Given the description of an element on the screen output the (x, y) to click on. 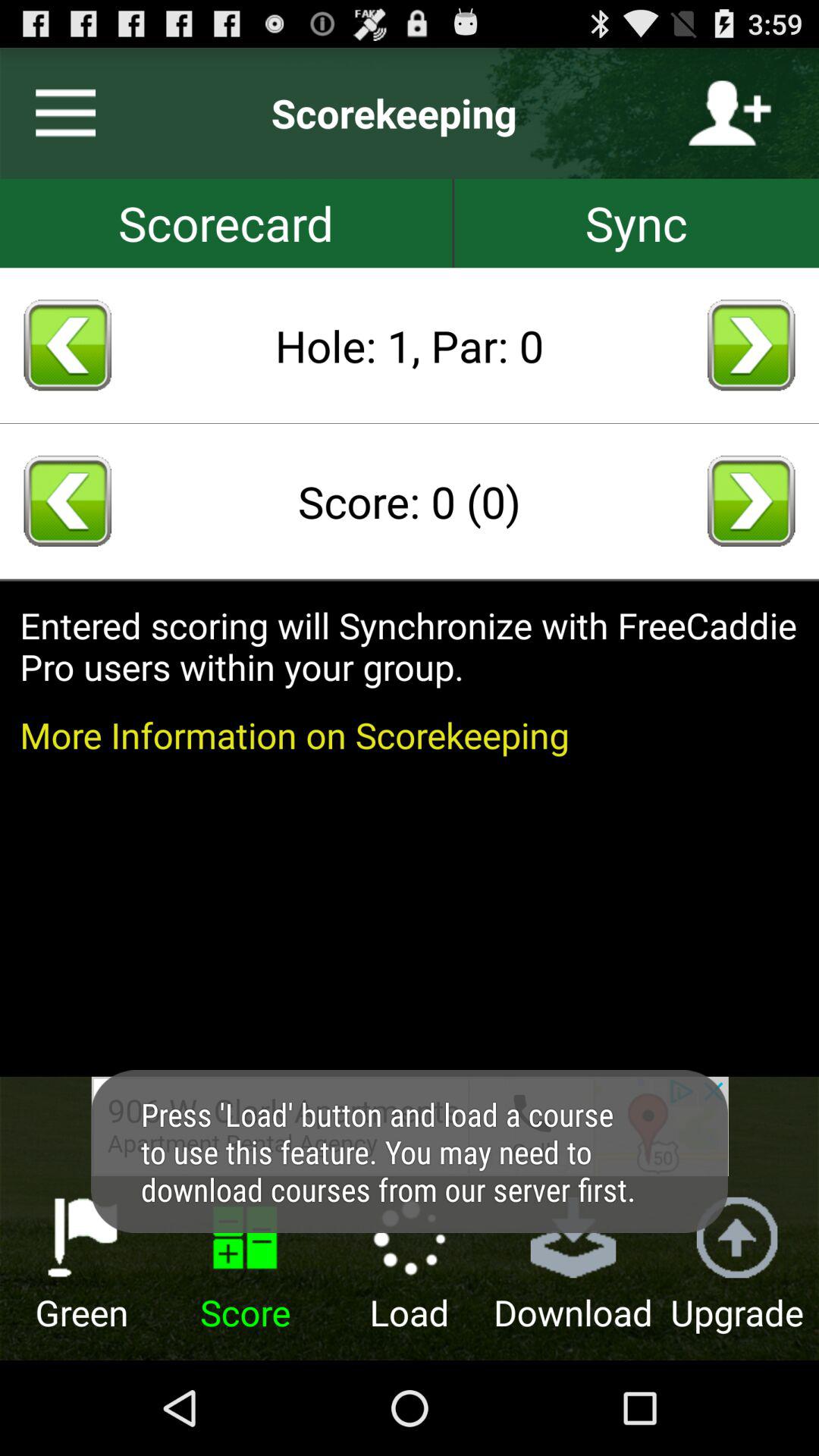
the white colored icon above the text green (81, 1237)
select the button which is next to the score 00 (751, 501)
click on the menu icon at the top right (59, 112)
no tagging (226, 223)
select the right arrow next to score 0 0 (751, 501)
